Given the description of an element on the screen output the (x, y) to click on. 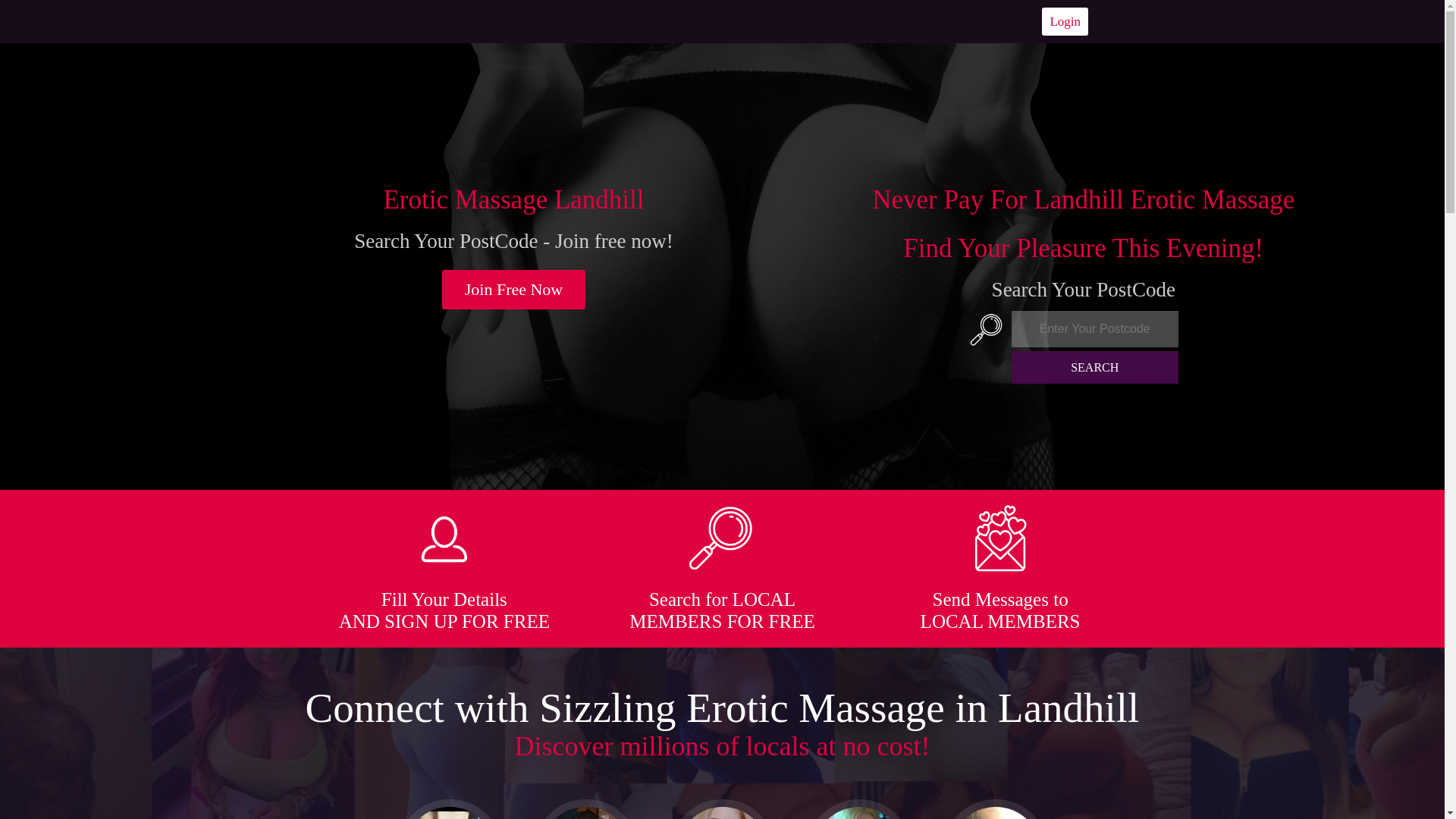
Login (1064, 21)
Join (514, 289)
Login (1064, 21)
Join Free Now (514, 289)
SEARCH (1094, 367)
